Given the description of an element on the screen output the (x, y) to click on. 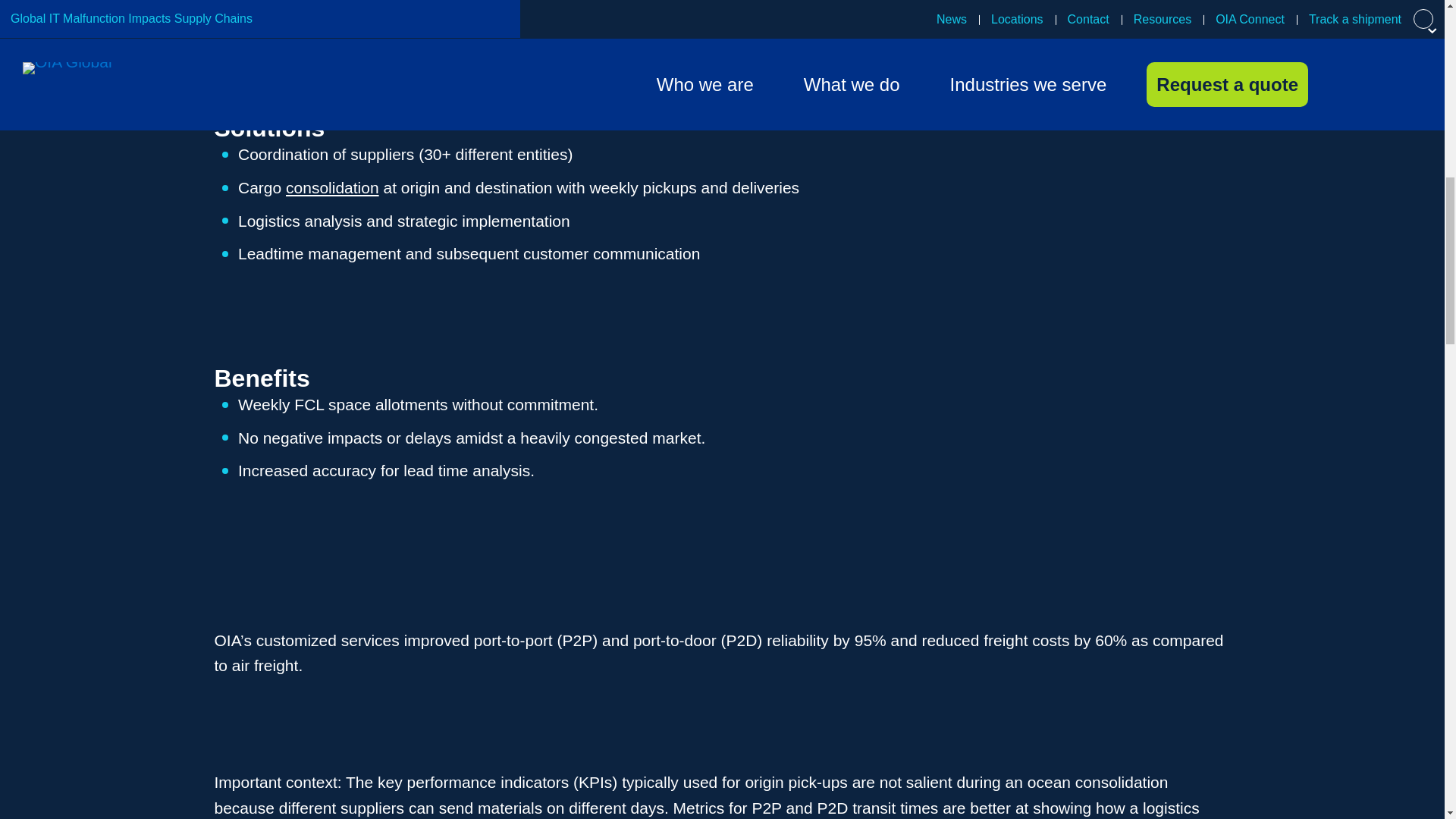
consolidation (331, 187)
